Given the description of an element on the screen output the (x, y) to click on. 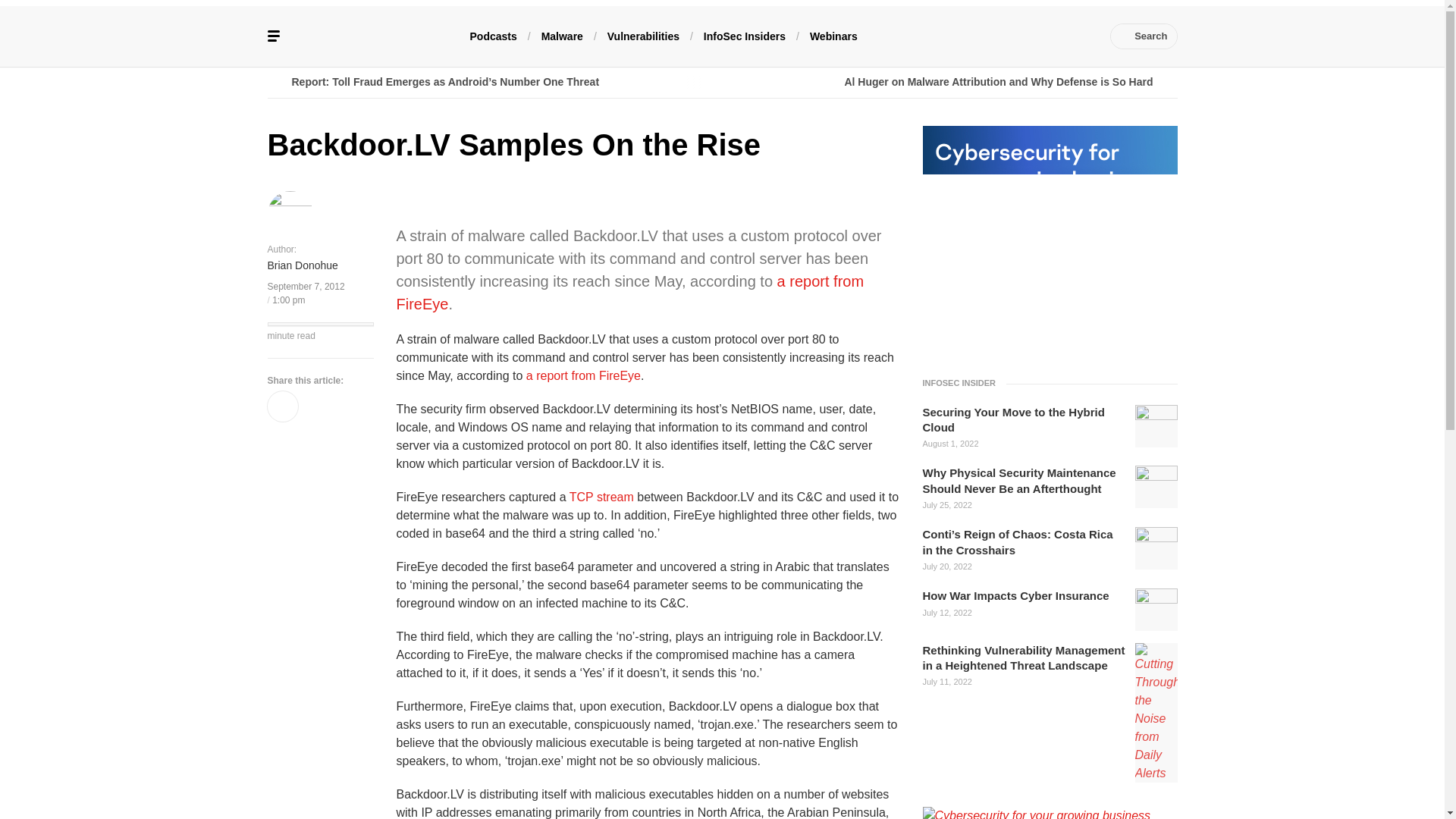
Al Huger on Malware Attribution and Why Defense is So Hard (949, 82)
Instagram (1057, 36)
Vulnerabilities (643, 35)
Facebook (944, 36)
Webinars (833, 35)
Twitter (966, 36)
InfoSec Insiders (744, 35)
a report from FireEye (582, 374)
YouTube (1012, 36)
RSS (1080, 36)
